Given the description of an element on the screen output the (x, y) to click on. 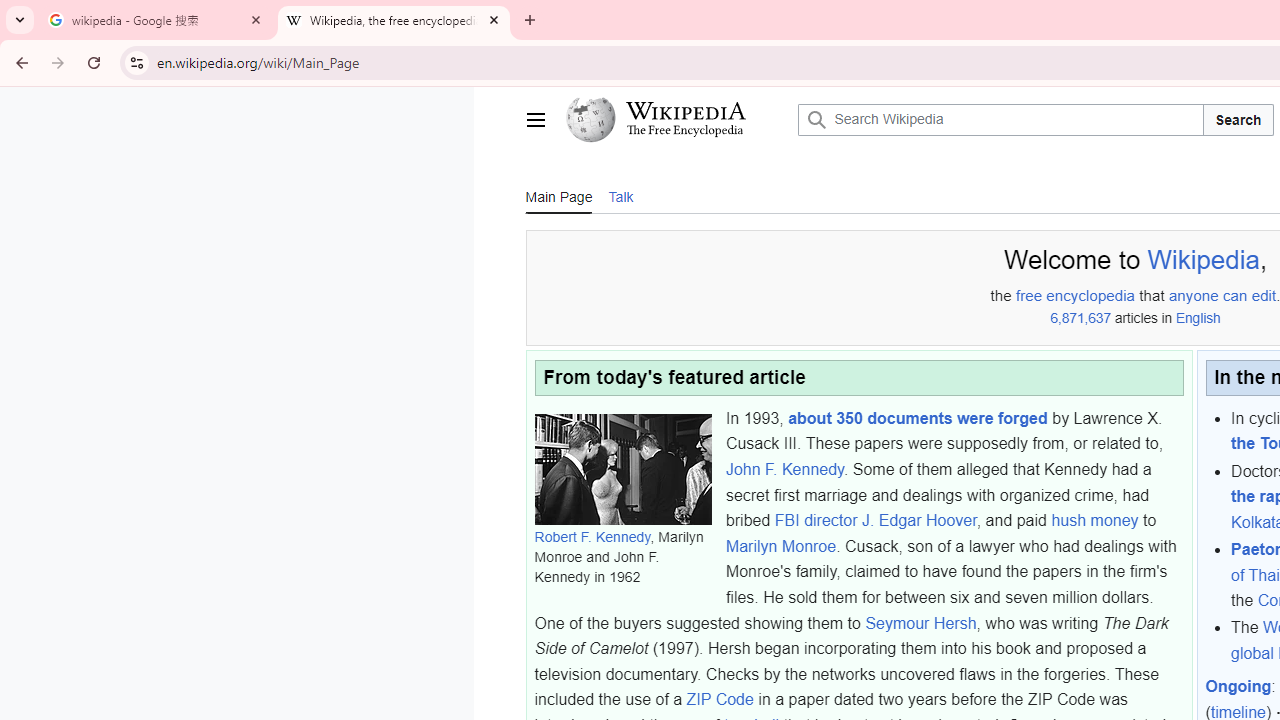
Main Page (558, 196)
hush money (1094, 520)
Marilyn Monroe (780, 546)
AutomationID: ca-talk (620, 195)
John F. Kennedy (783, 469)
